Given the description of an element on the screen output the (x, y) to click on. 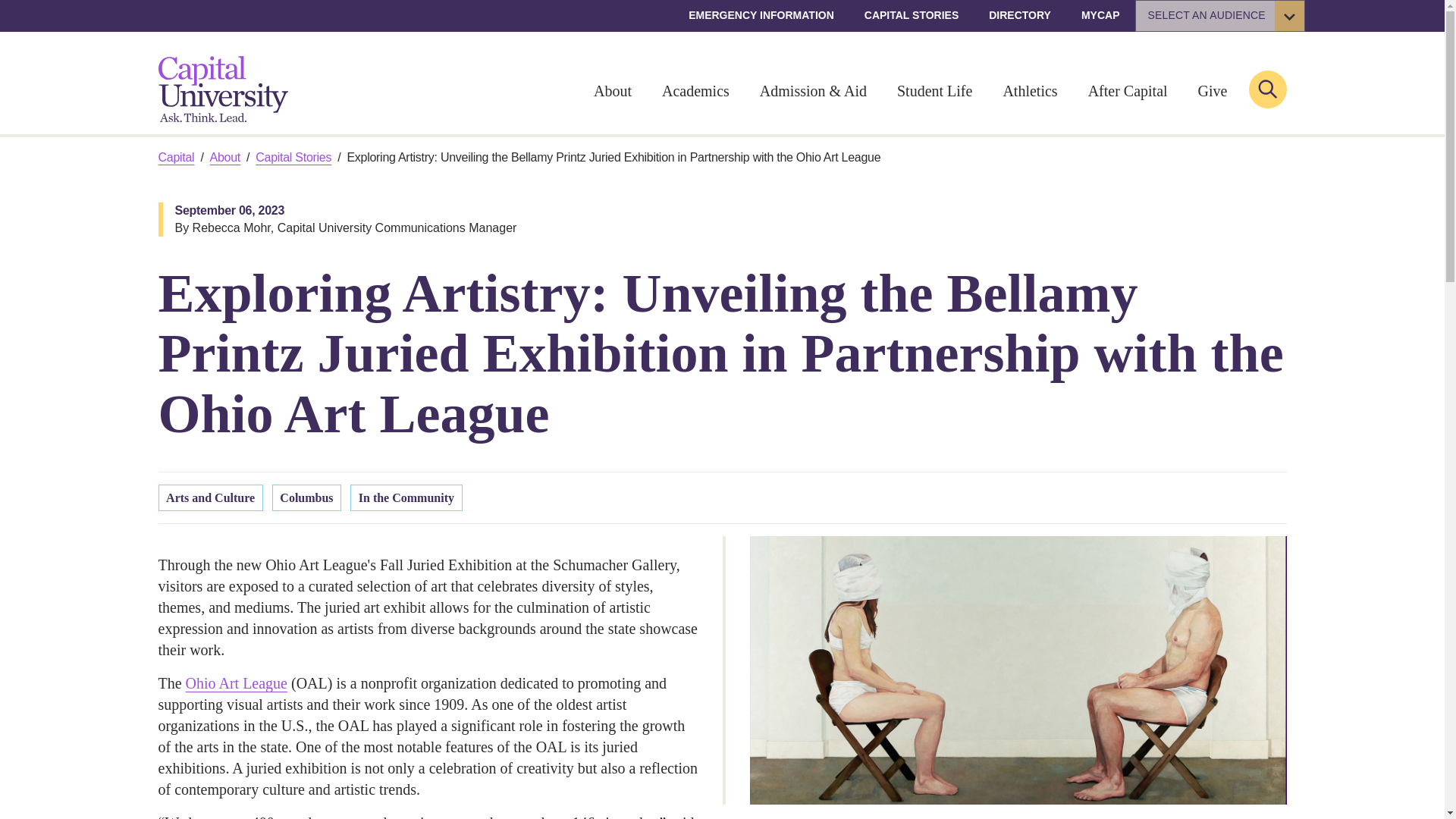
Capital Stories (293, 157)
Academics (695, 91)
Capital (175, 157)
Search (1266, 88)
About (224, 157)
Search (1266, 88)
